Given the description of an element on the screen output the (x, y) to click on. 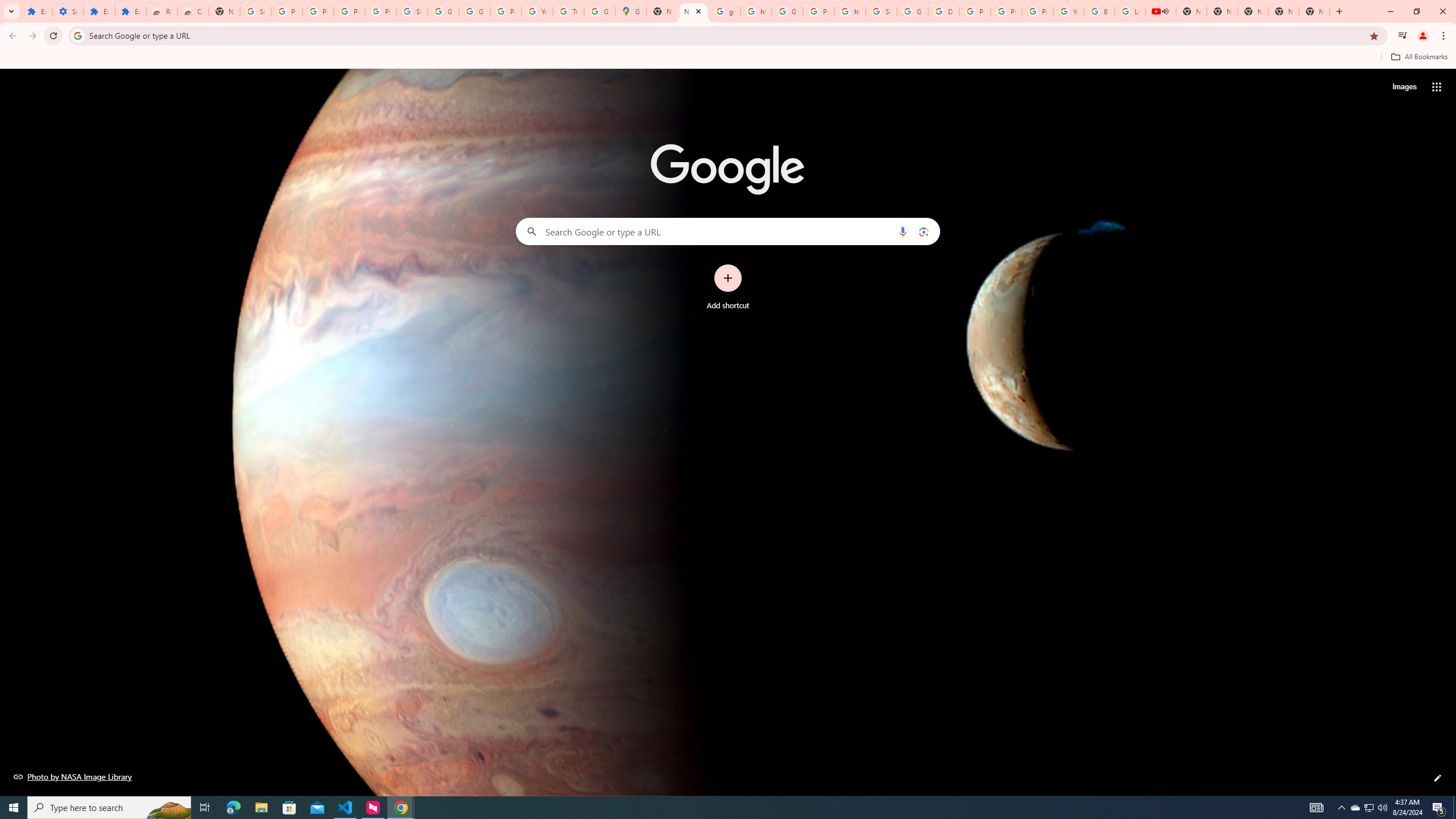
Photo by NASA Image Library (72, 776)
Settings (67, 11)
Bookmarks (728, 58)
